Given the description of an element on the screen output the (x, y) to click on. 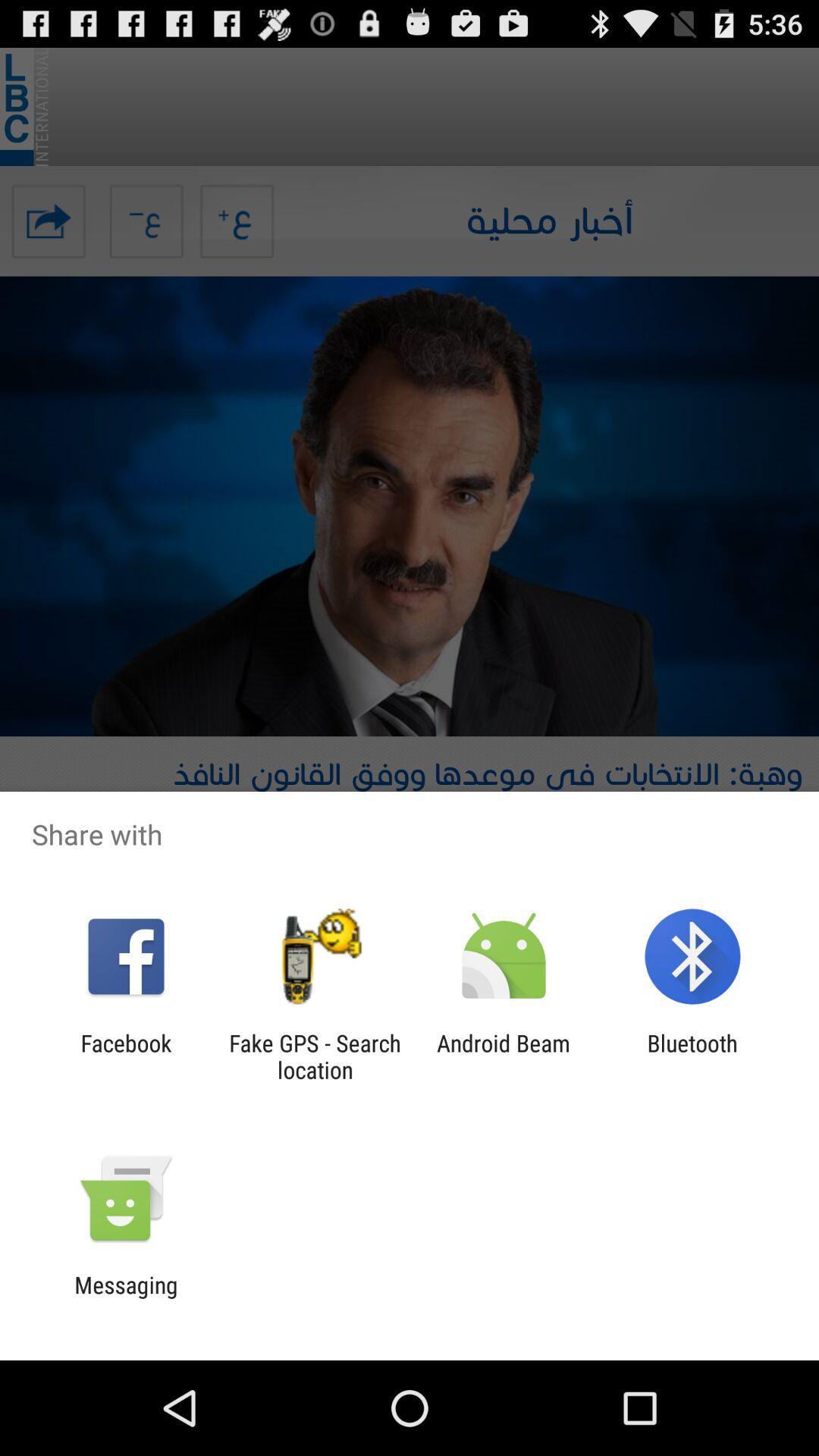
turn on bluetooth (692, 1056)
